Given the description of an element on the screen output the (x, y) to click on. 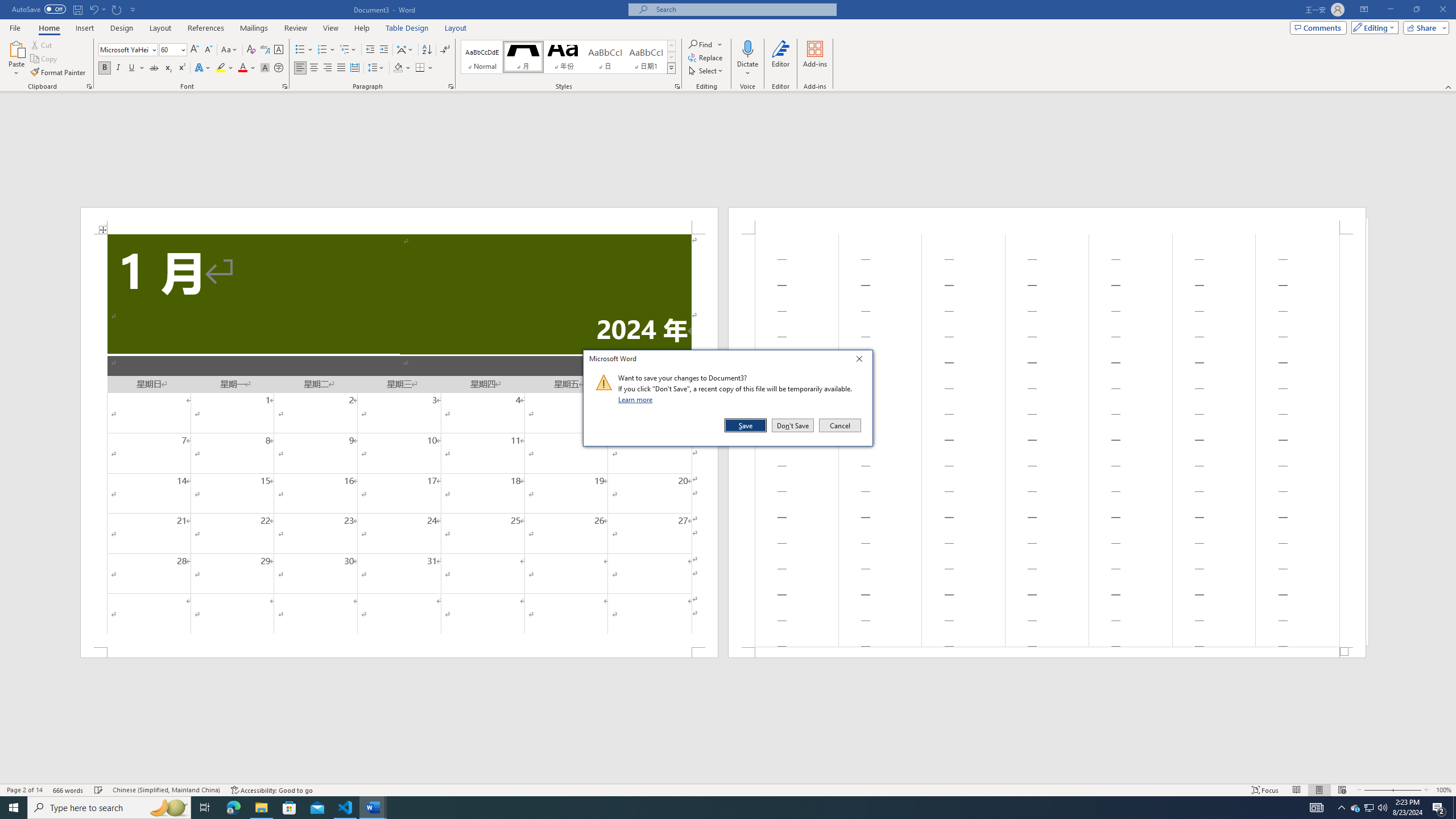
Running applications (717, 807)
